Given the description of an element on the screen output the (x, y) to click on. 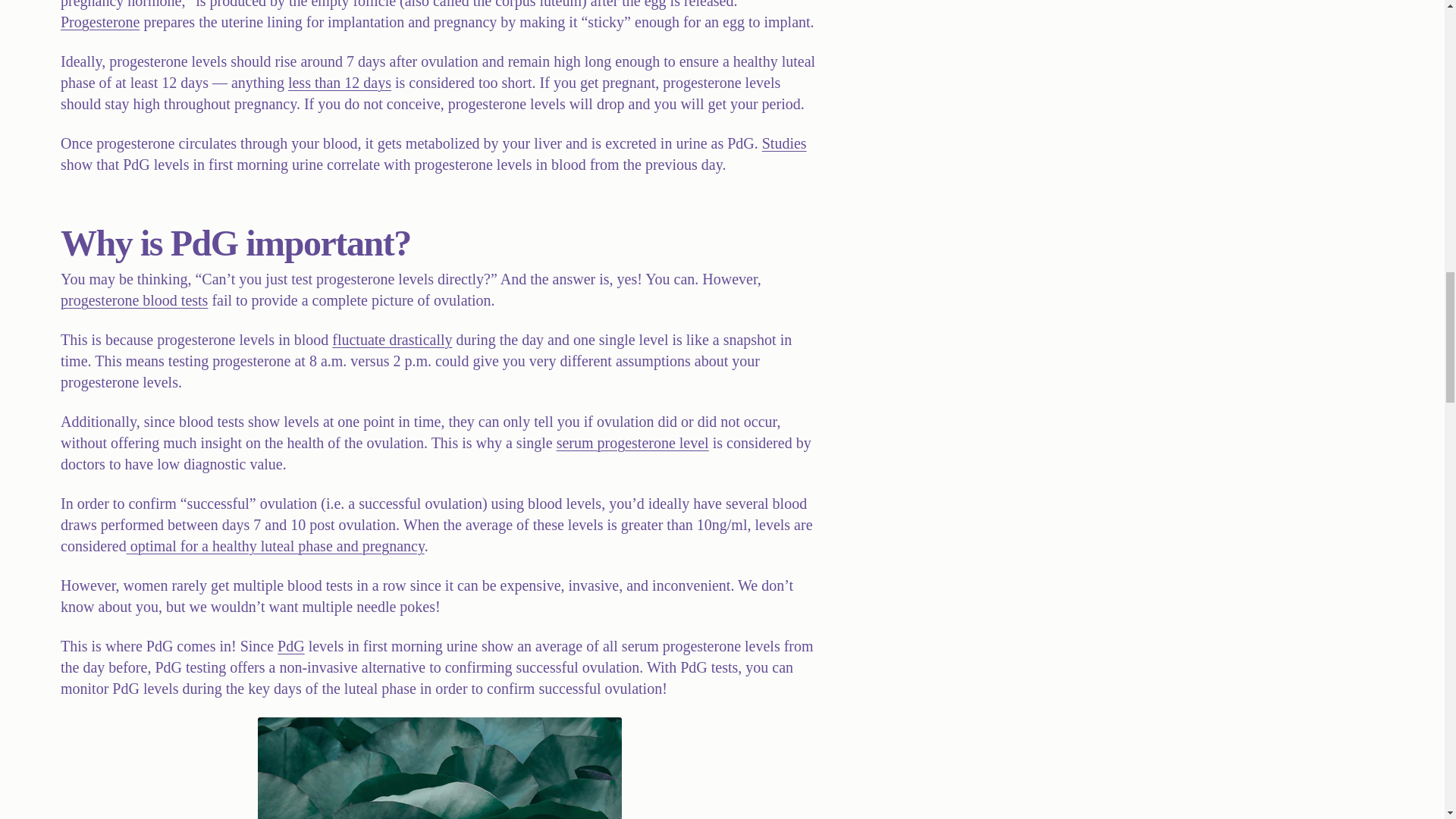
fluctuate drastically (391, 339)
serum progesterone level (632, 442)
optimal for a healthy luteal phase and pregnancy (275, 545)
Studies (783, 143)
PdG (291, 646)
progesterone blood tests (134, 299)
less than 12 days (339, 82)
Progesterone (100, 21)
